Given the description of an element on the screen output the (x, y) to click on. 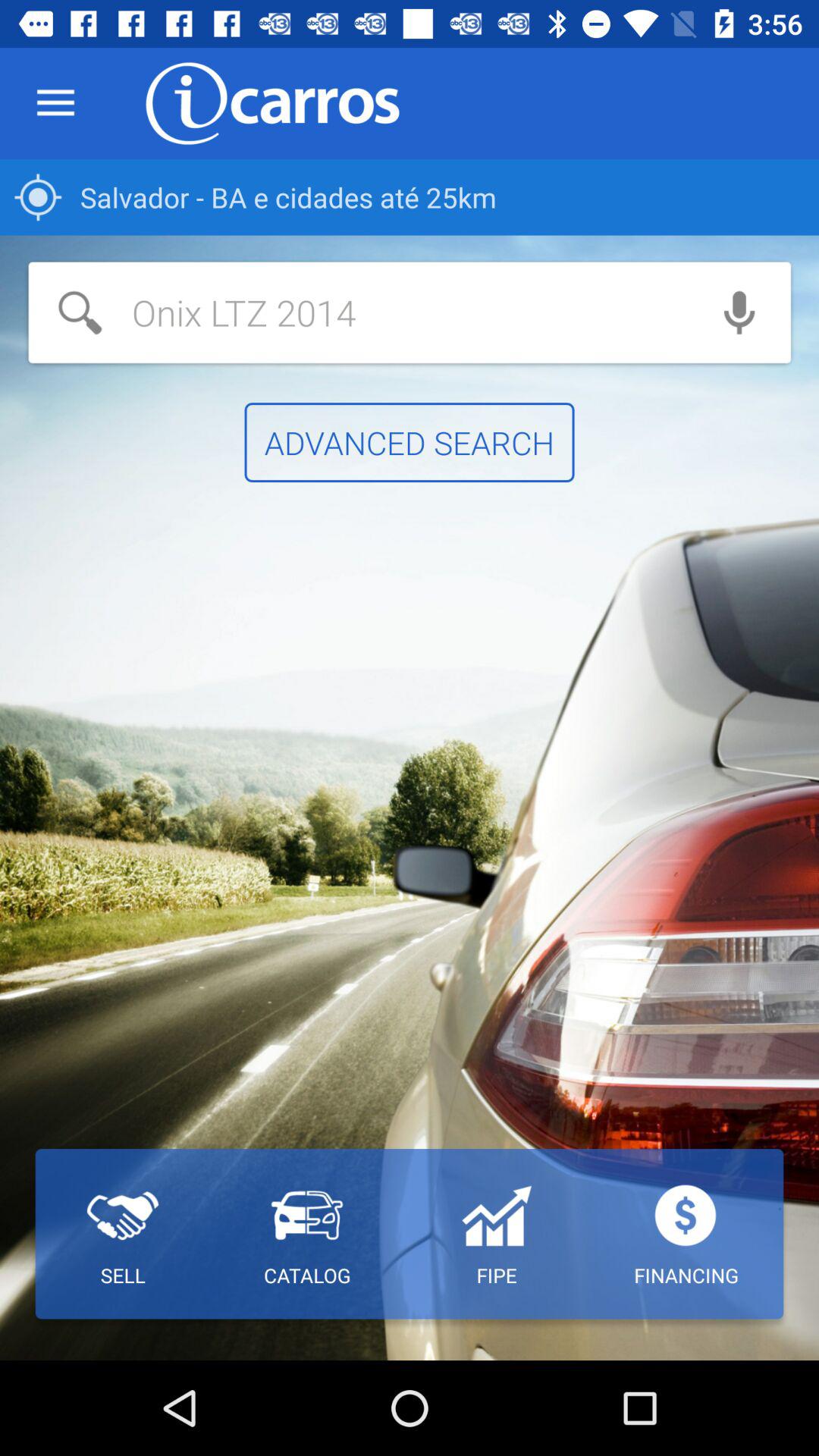
place to enter make/model of vehicle (357, 312)
